Given the description of an element on the screen output the (x, y) to click on. 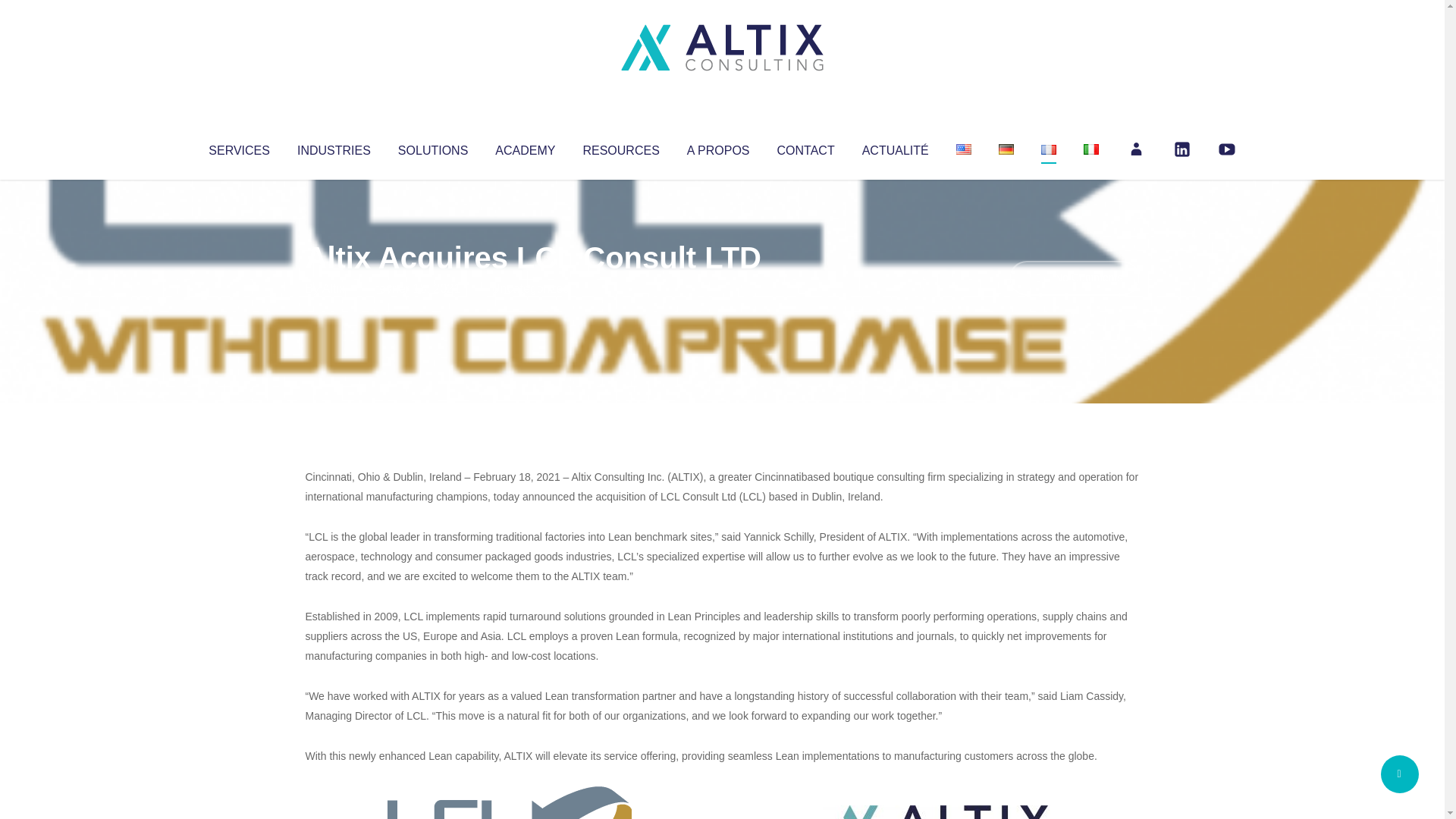
Articles par Altix (333, 287)
SERVICES (238, 146)
RESOURCES (620, 146)
ACADEMY (524, 146)
A PROPOS (718, 146)
INDUSTRIES (334, 146)
Altix (333, 287)
No Comments (1073, 278)
SOLUTIONS (432, 146)
Uncategorized (530, 287)
